Given the description of an element on the screen output the (x, y) to click on. 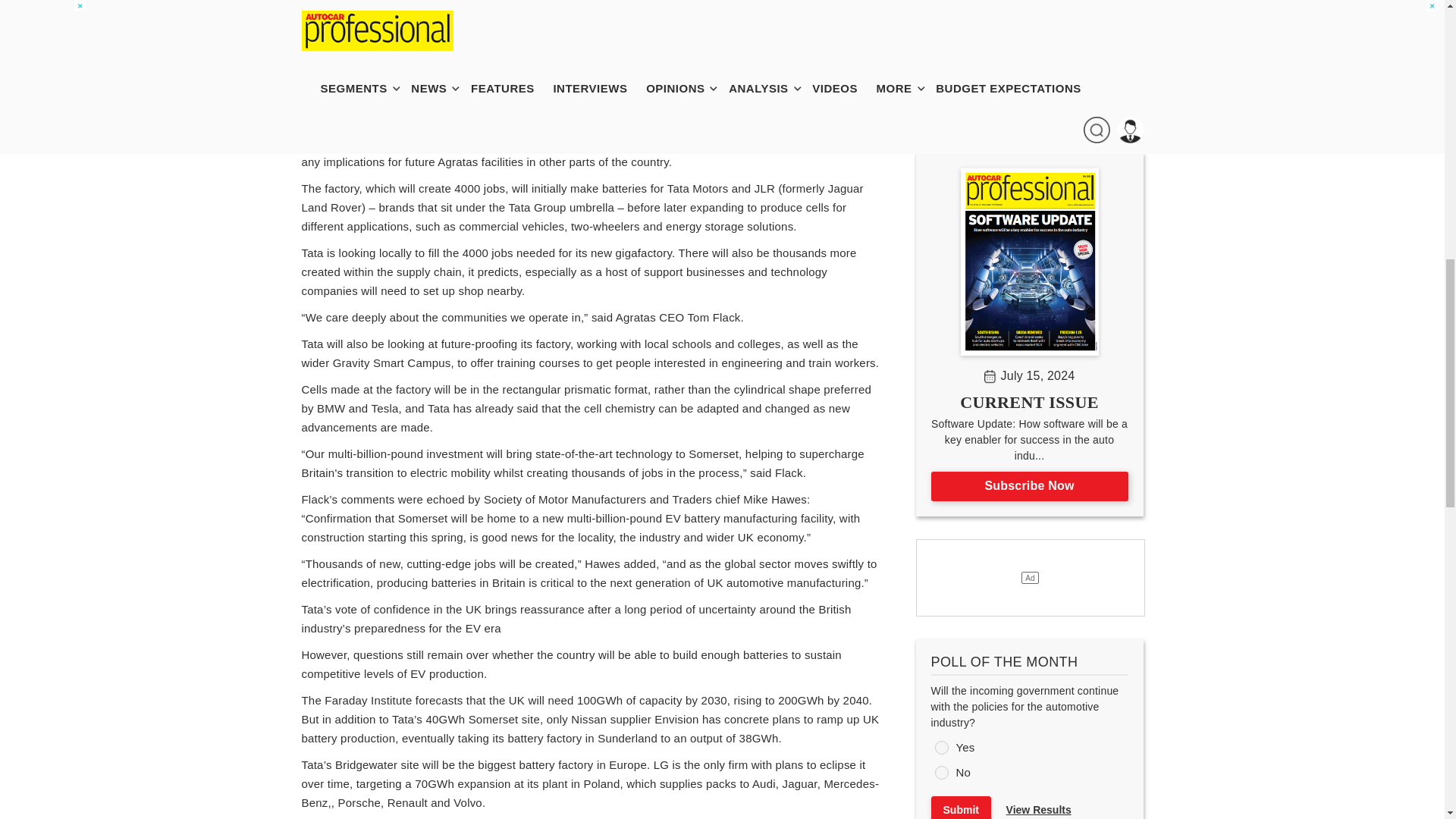
293 (940, 747)
294 (940, 772)
